Given the description of an element on the screen output the (x, y) to click on. 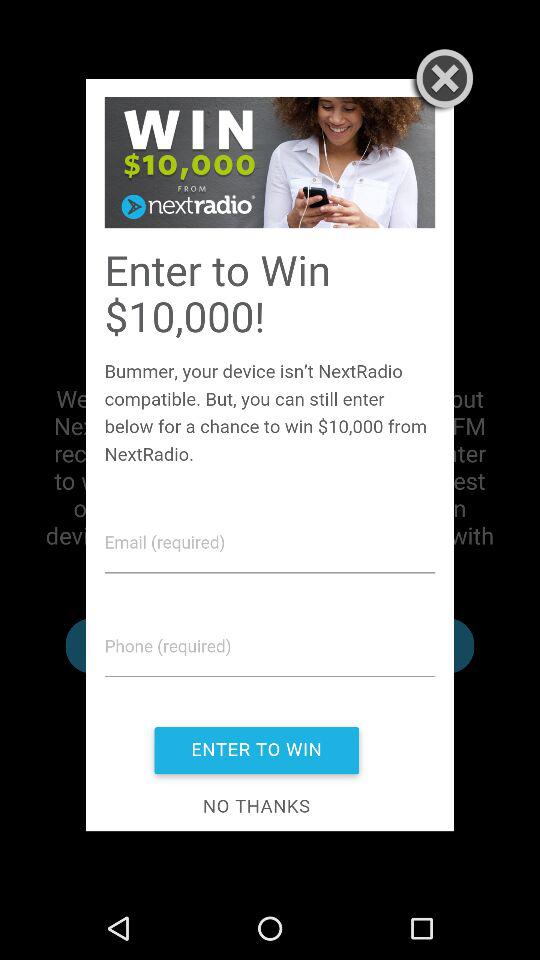
go to cancel (440, 81)
